Given the description of an element on the screen output the (x, y) to click on. 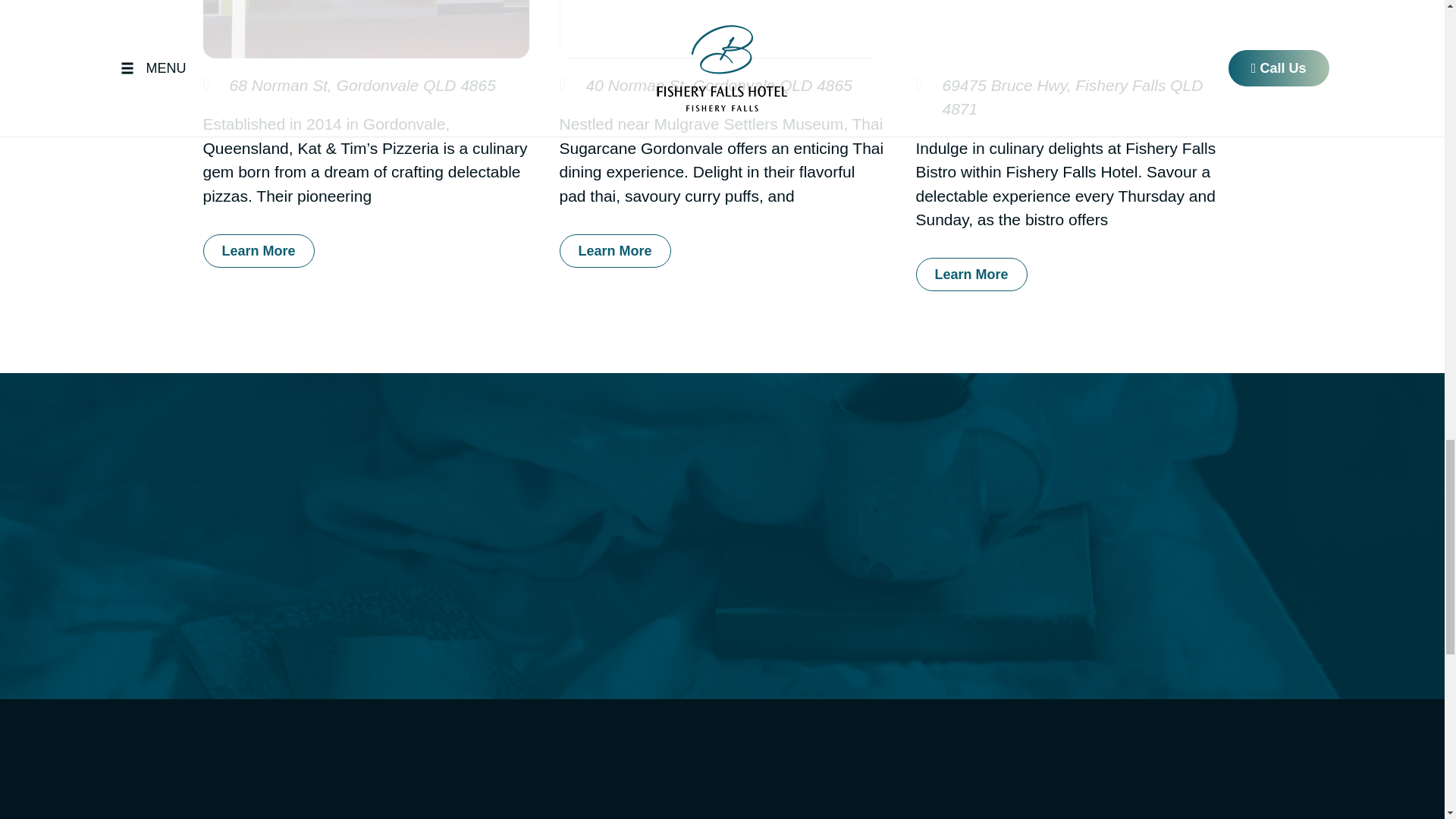
Learn More (971, 274)
Learn More (615, 250)
Learn More (258, 250)
